Given the description of an element on the screen output the (x, y) to click on. 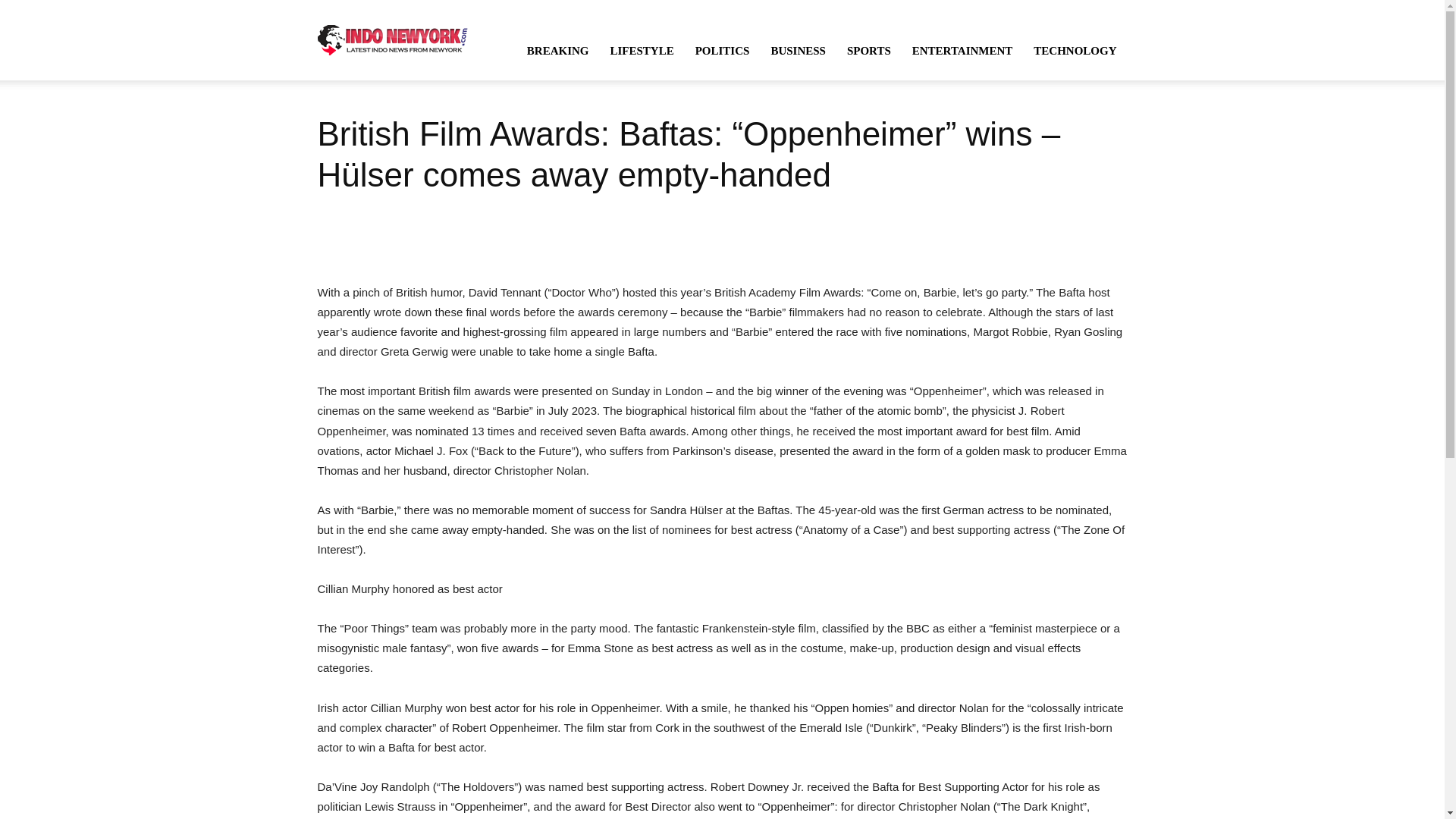
ENTERTAINMENT (962, 50)
LIFESTYLE (641, 50)
Indo Newyork (392, 39)
BREAKING (557, 50)
SPORTS (868, 50)
BUSINESS (797, 50)
POLITICS (722, 50)
TECHNOLOGY (1074, 50)
